Given the description of an element on the screen output the (x, y) to click on. 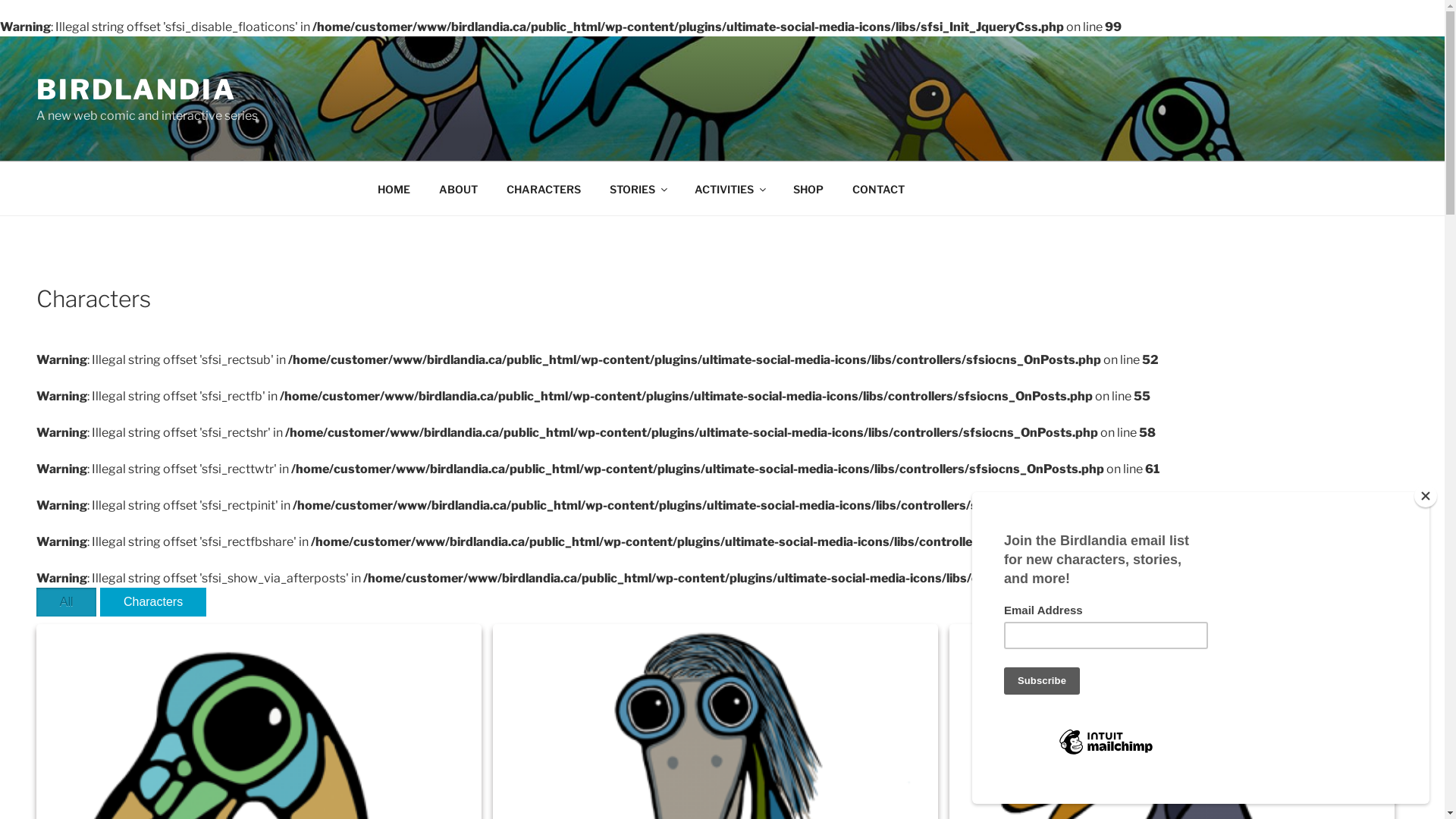
STORIES Element type: text (637, 188)
ACTIVITIES Element type: text (728, 188)
CHARACTERS Element type: text (542, 188)
HOME Element type: text (393, 188)
SHOP Element type: text (807, 188)
BIRDLANDIA Element type: text (136, 89)
CONTACT Element type: text (877, 188)
ABOUT Element type: text (458, 188)
Characters Element type: text (153, 600)
All Element type: text (66, 600)
